Given the description of an element on the screen output the (x, y) to click on. 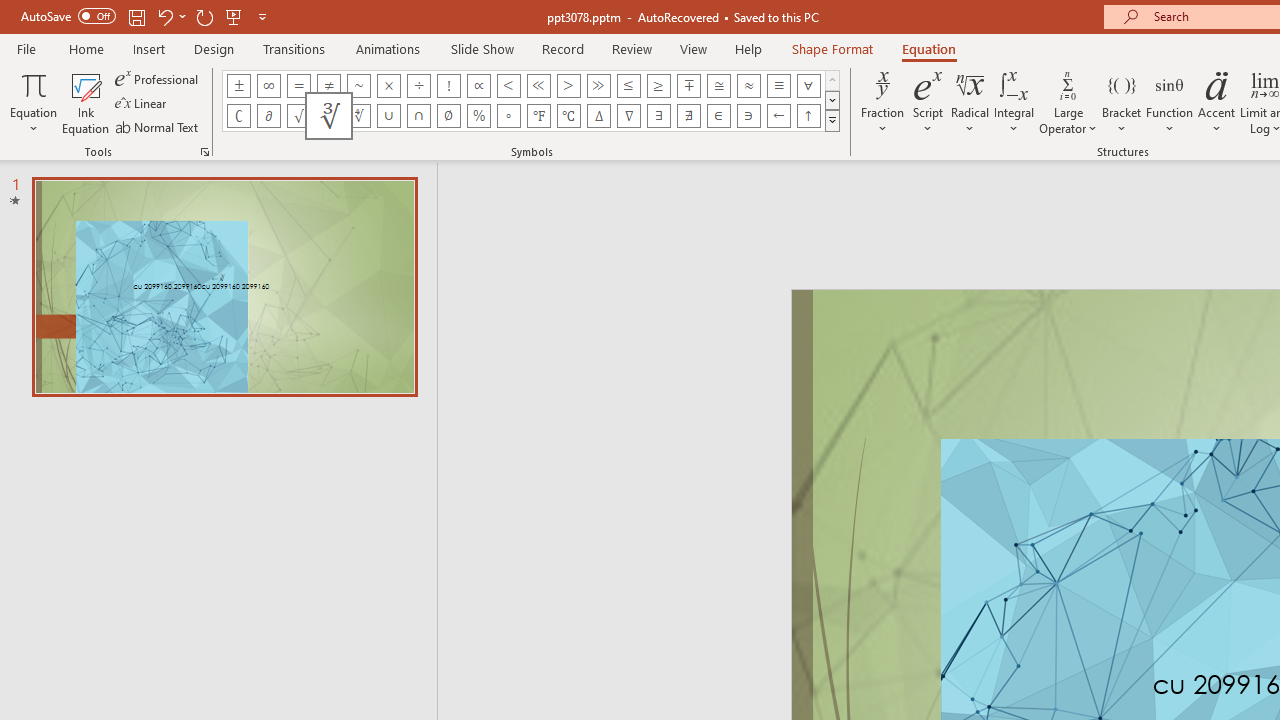
Linear (142, 103)
Equation Symbol Greater Than (568, 85)
Equation Symbols (832, 120)
Function (1169, 102)
Equation Symbol Complement (238, 115)
Equation Symbol Degrees (508, 115)
Equation Symbol Partial Differential (268, 115)
Script (927, 102)
Equation Symbol Degrees Celsius (568, 115)
Equation Symbol Radical Sign (298, 115)
Equation Symbol Almost Equal To (Asymptotic To) (748, 85)
Equation Symbol Equal (298, 85)
Equation Symbol Nabla (628, 115)
